Given the description of an element on the screen output the (x, y) to click on. 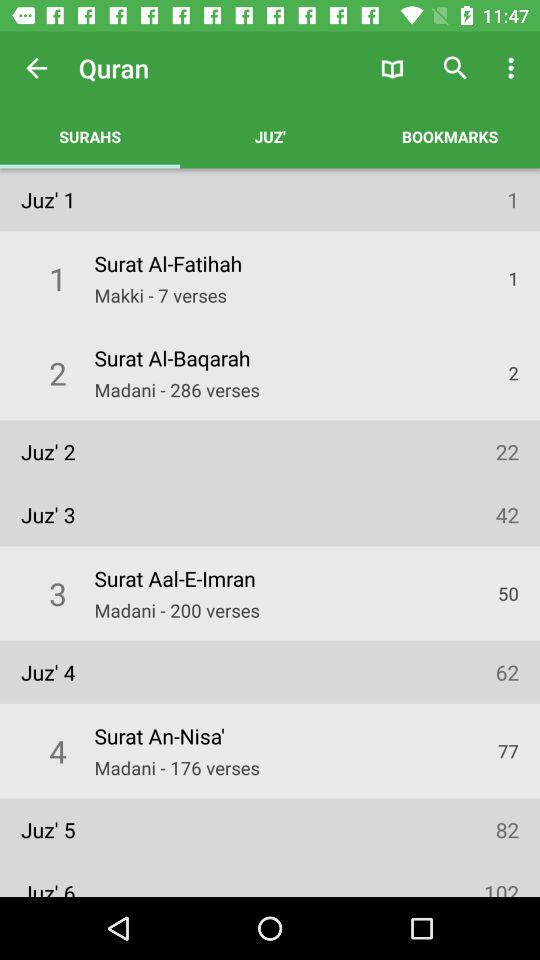
choose app next to quran icon (36, 68)
